Given the description of an element on the screen output the (x, y) to click on. 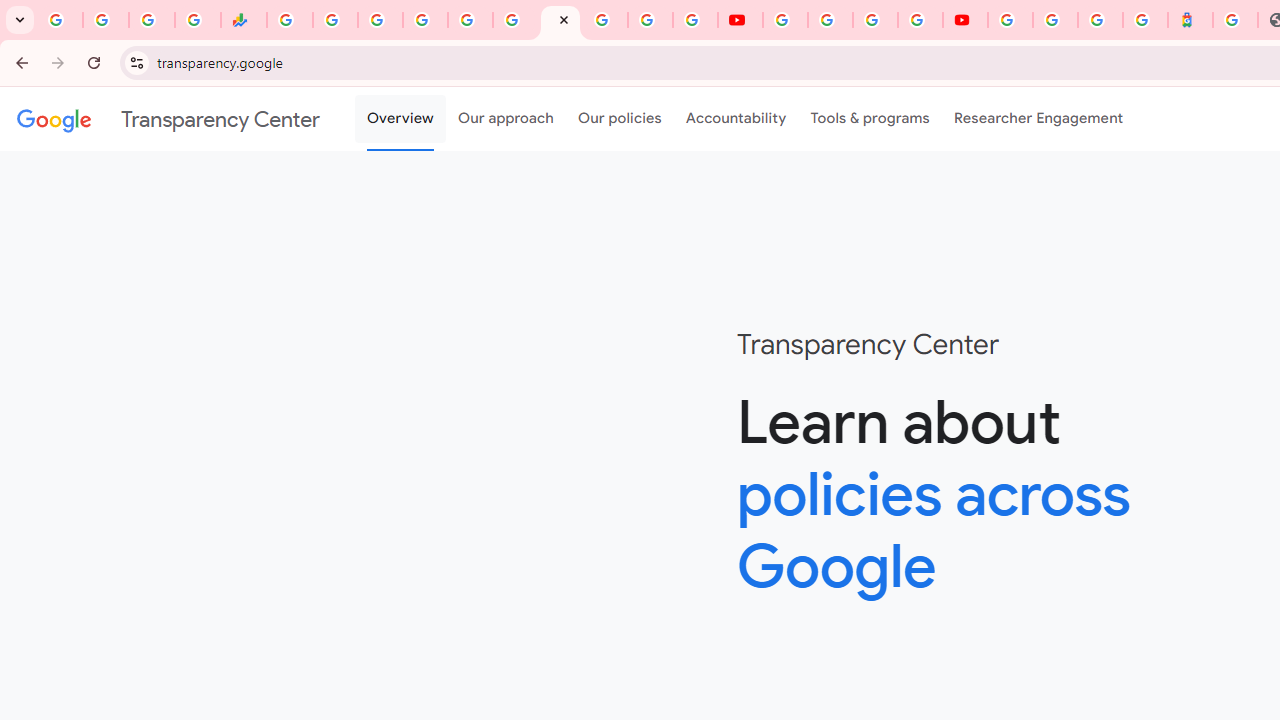
Search tabs (20, 20)
YouTube (784, 20)
System (10, 11)
Content Creator Programs & Opportunities - YouTube Creators (965, 20)
Researcher Engagement (1038, 119)
Forward (57, 62)
Create your Google Account (875, 20)
Close (564, 19)
Sign in - Google Accounts (605, 20)
Sign in - Google Accounts (1010, 20)
Google Account Help (829, 20)
